Given the description of an element on the screen output the (x, y) to click on. 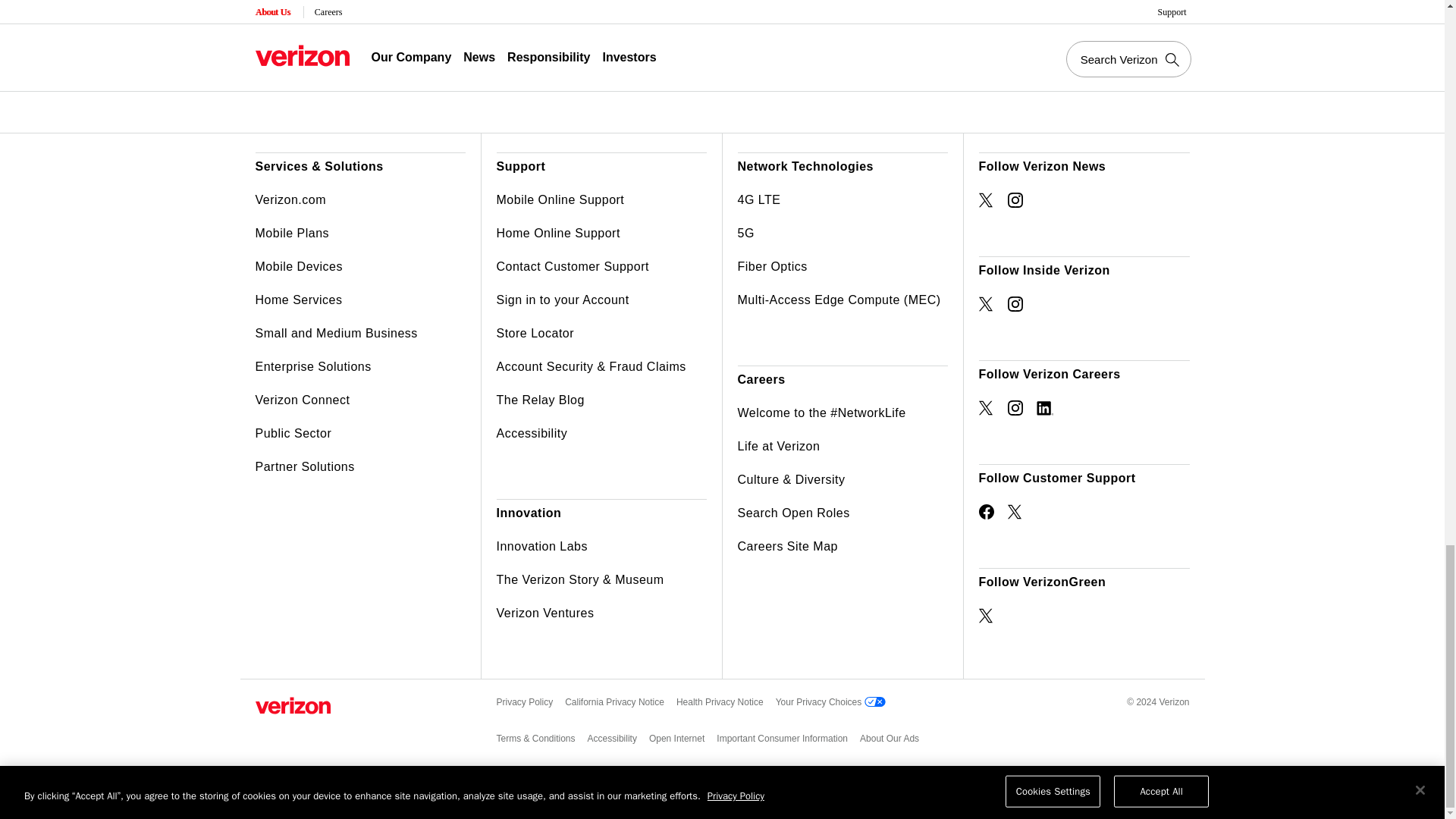
Opens New Window (985, 304)
Opens New Window (1014, 200)
Opens New Window (1014, 304)
Verizon Home Page (292, 705)
Opens New Window (1014, 511)
Opens New Window (1014, 407)
Opens New Window (985, 511)
Opens New Window (985, 407)
Opens New Window (985, 615)
Opens New Window (1043, 407)
Opens New Window (985, 200)
